Given the description of an element on the screen output the (x, y) to click on. 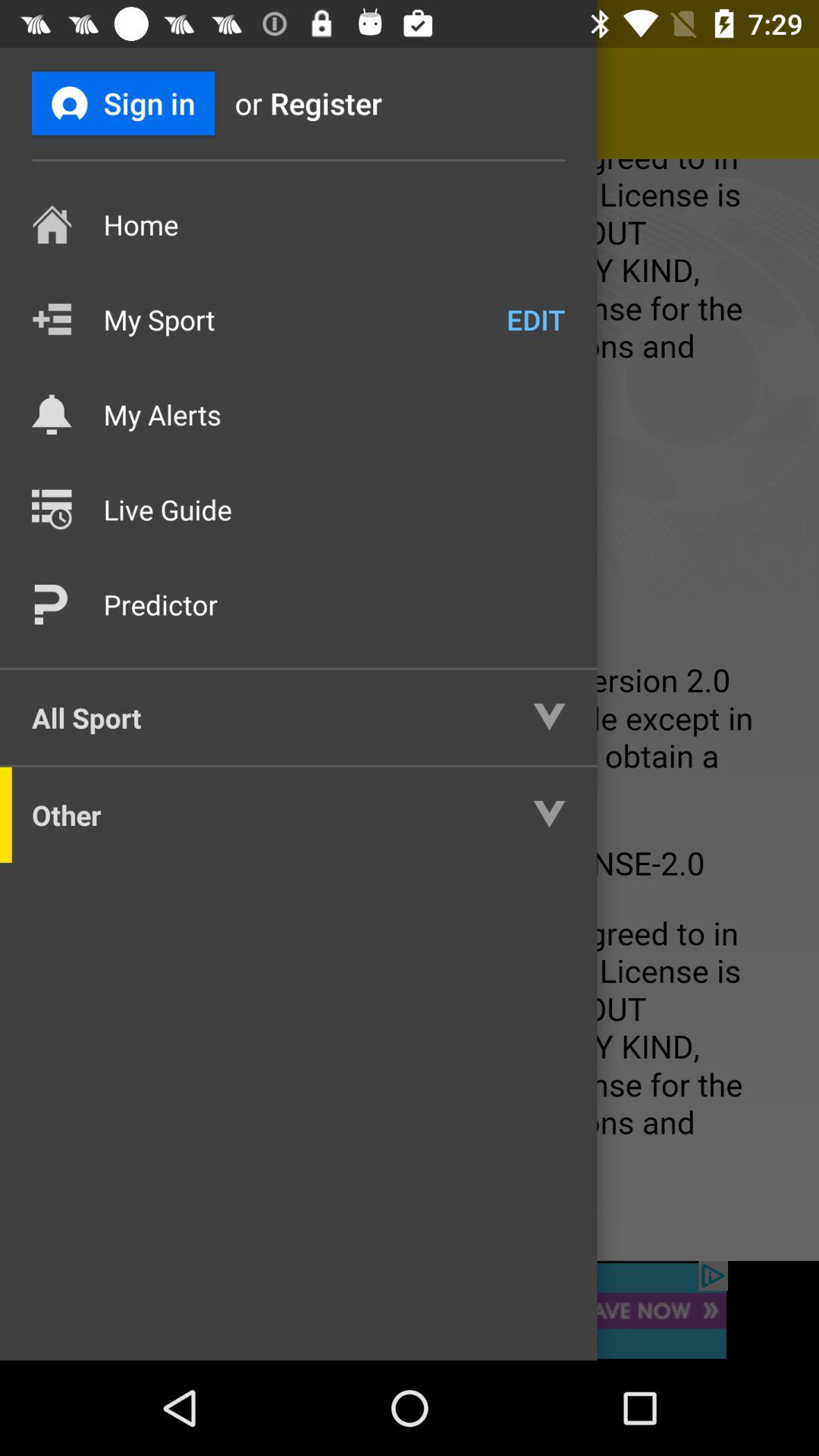
highlight the whole page (409, 709)
